Given the description of an element on the screen output the (x, y) to click on. 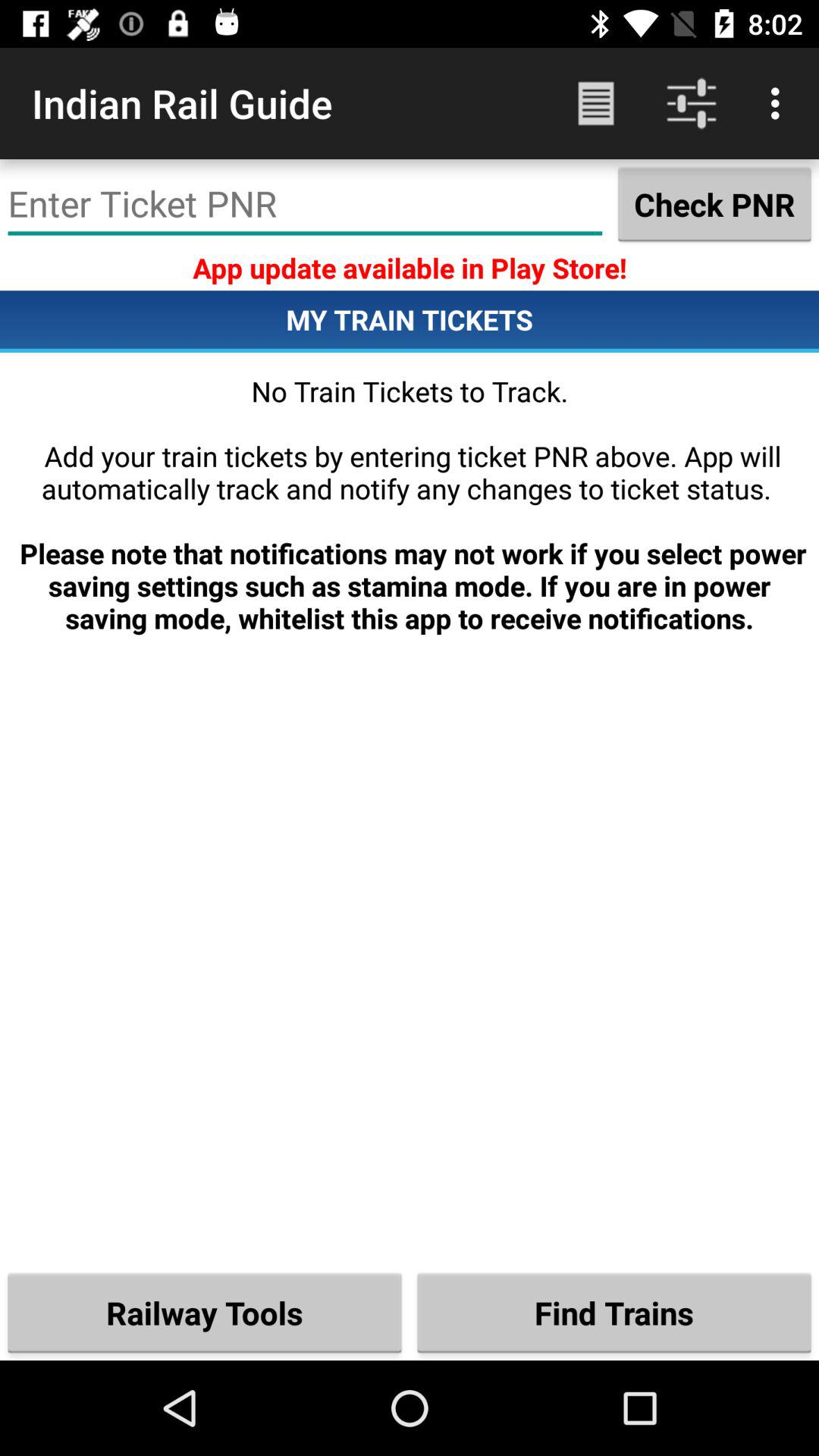
turn on the railway tools (204, 1312)
